Given the description of an element on the screen output the (x, y) to click on. 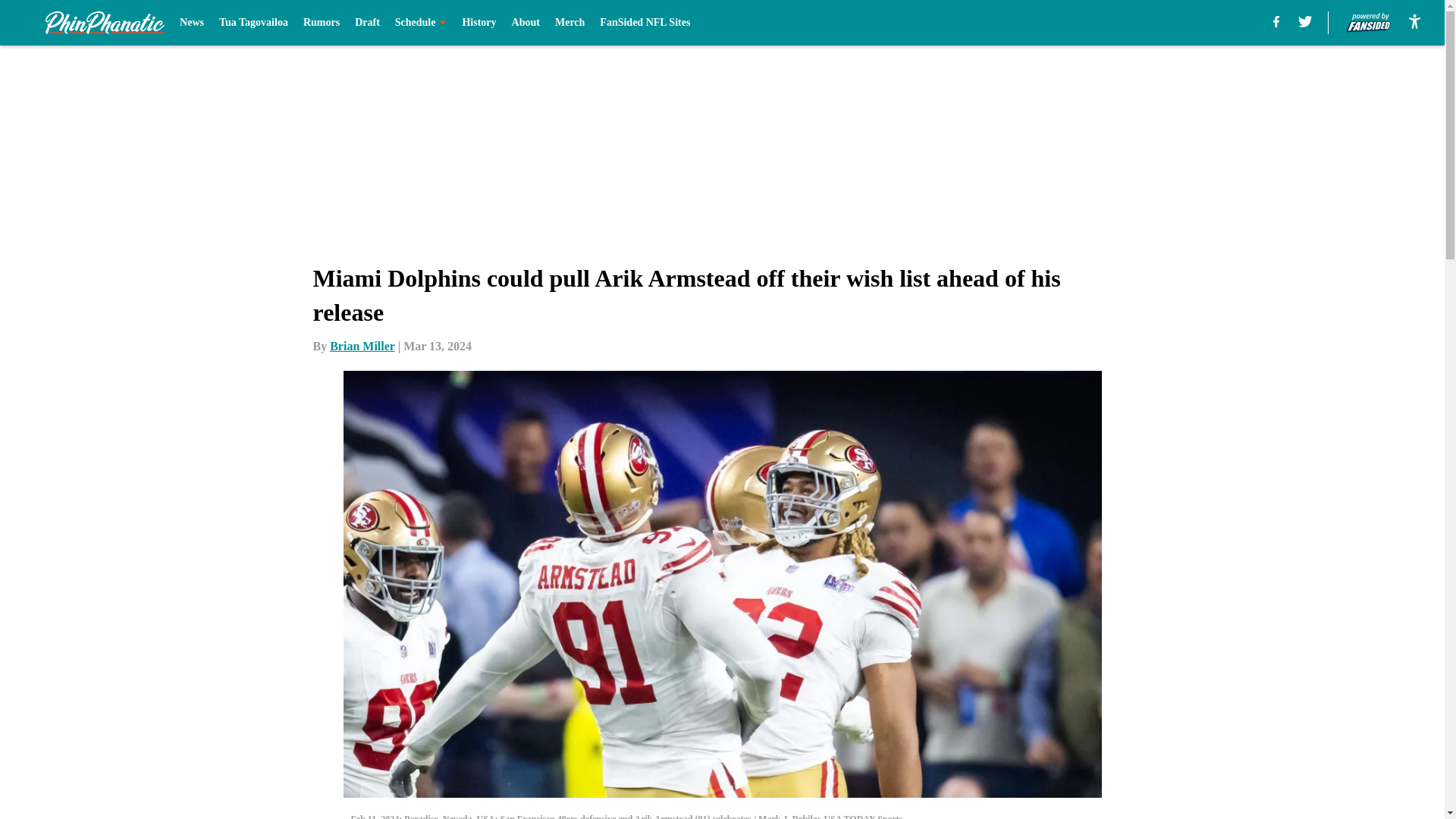
FanSided NFL Sites (644, 22)
Brian Miller (362, 345)
Rumors (320, 22)
News (191, 22)
Merch (569, 22)
Tua Tagovailoa (253, 22)
History (478, 22)
About (526, 22)
Draft (367, 22)
